Given the description of an element on the screen output the (x, y) to click on. 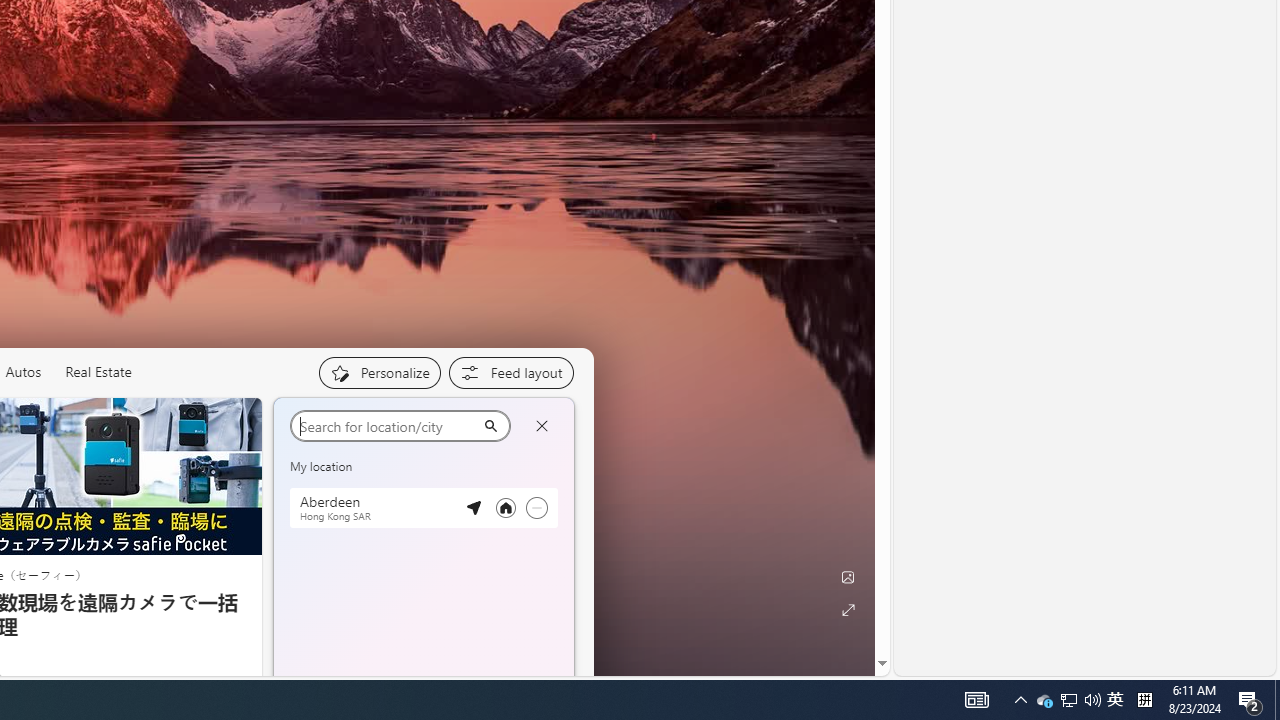
Set as your primary location (505, 507)
Cannot remove (536, 507)
Autos (22, 371)
Feed settings (510, 372)
search (386, 426)
Real Estate (97, 372)
Daily (378, 516)
Class: weather-arrow-glyph (554, 474)
Expect rain showers next Tuesday (551, 474)
Real Estate (98, 371)
previous (283, 549)
Detected location (473, 507)
